Given the description of an element on the screen output the (x, y) to click on. 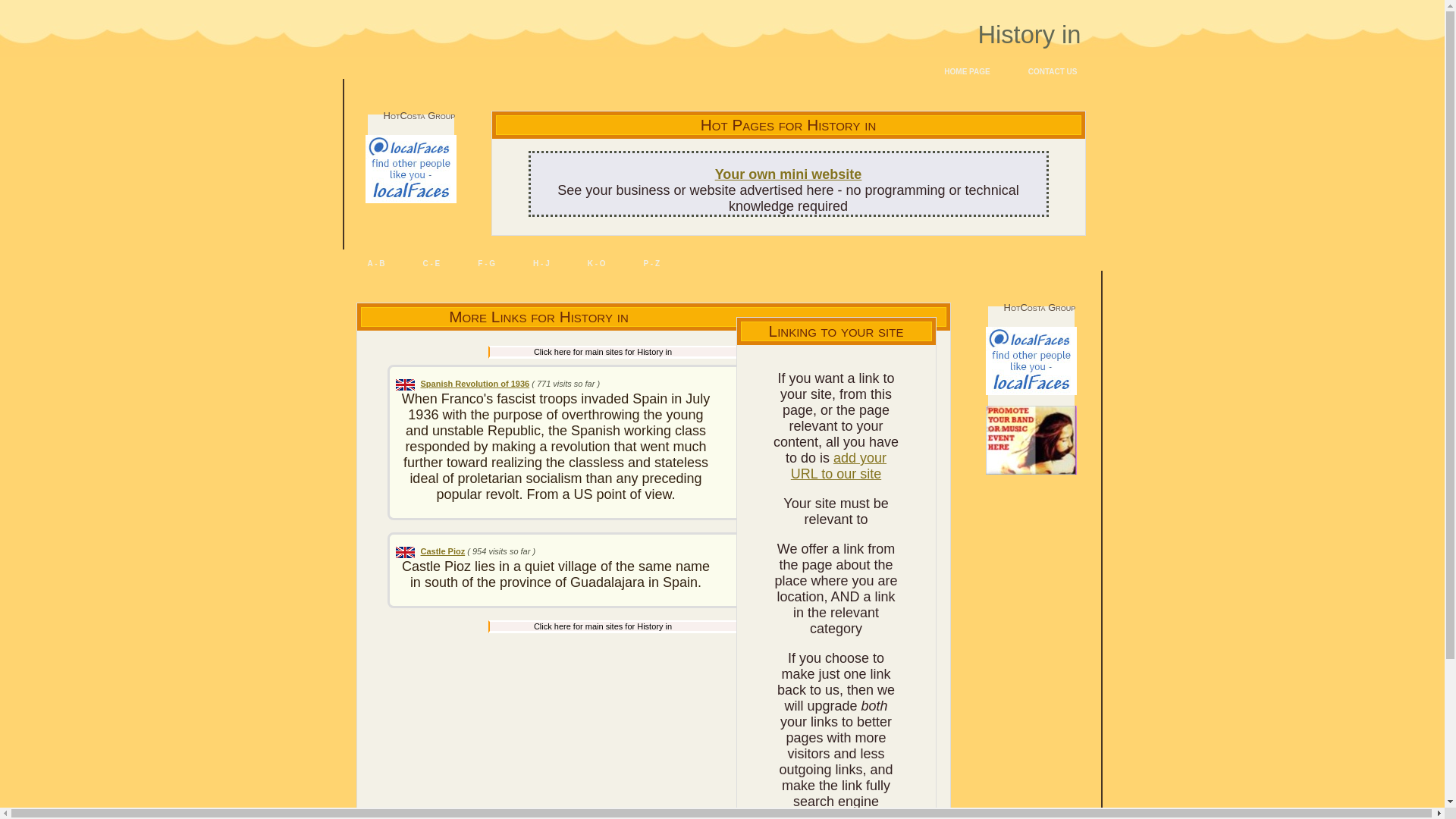
Main sites for History in  (680, 626)
A - B (375, 263)
Main page for History (680, 351)
HOME PAGE (966, 71)
CONTACT US (1052, 71)
Your own mini website (787, 174)
C - E (431, 263)
F - G (486, 263)
H - J (541, 263)
